Given the description of an element on the screen output the (x, y) to click on. 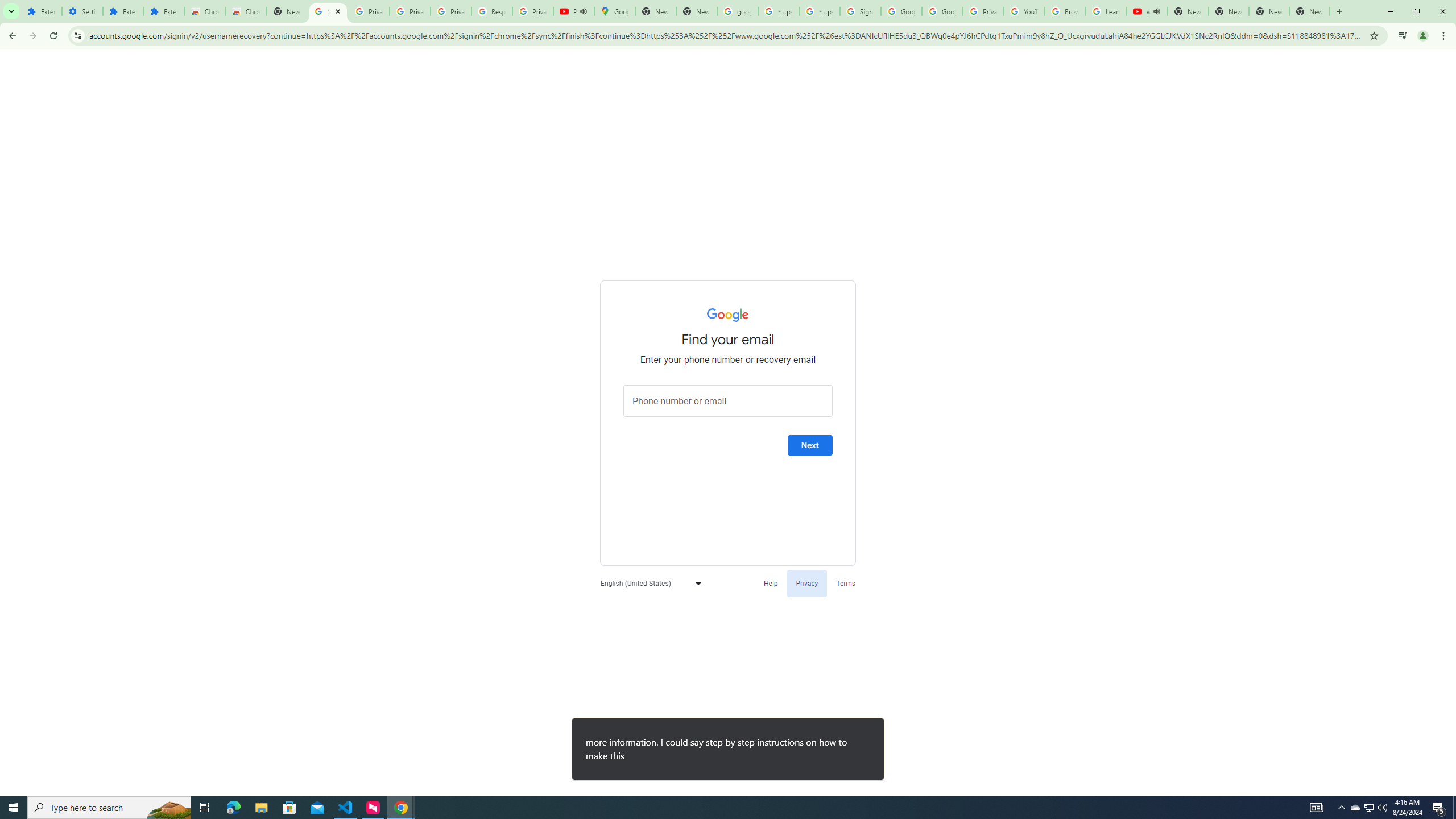
https://scholar.google.com/ (777, 11)
Extensions (163, 11)
Phone number or email (727, 400)
Sign in - Google Accounts (327, 11)
Chrome Web Store (205, 11)
Browse Chrome as a guest - Computer - Google Chrome Help (1064, 11)
